Given the description of an element on the screen output the (x, y) to click on. 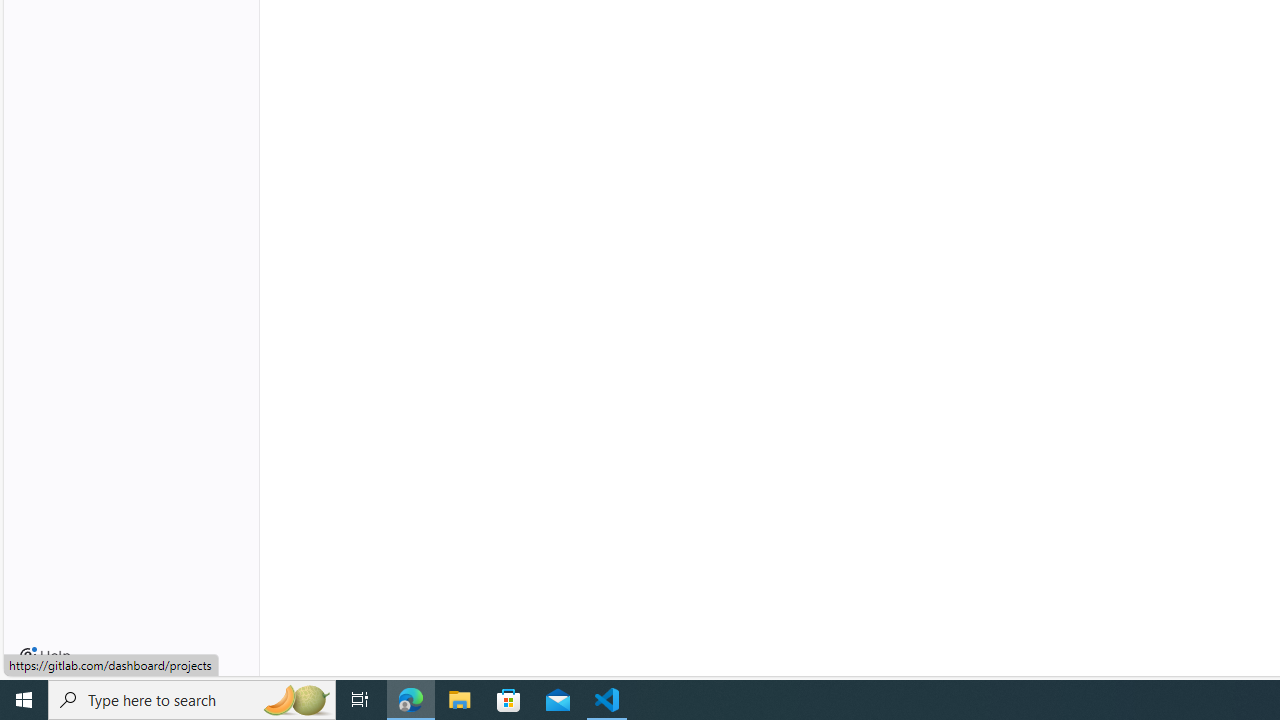
Help (45, 655)
